Given the description of an element on the screen output the (x, y) to click on. 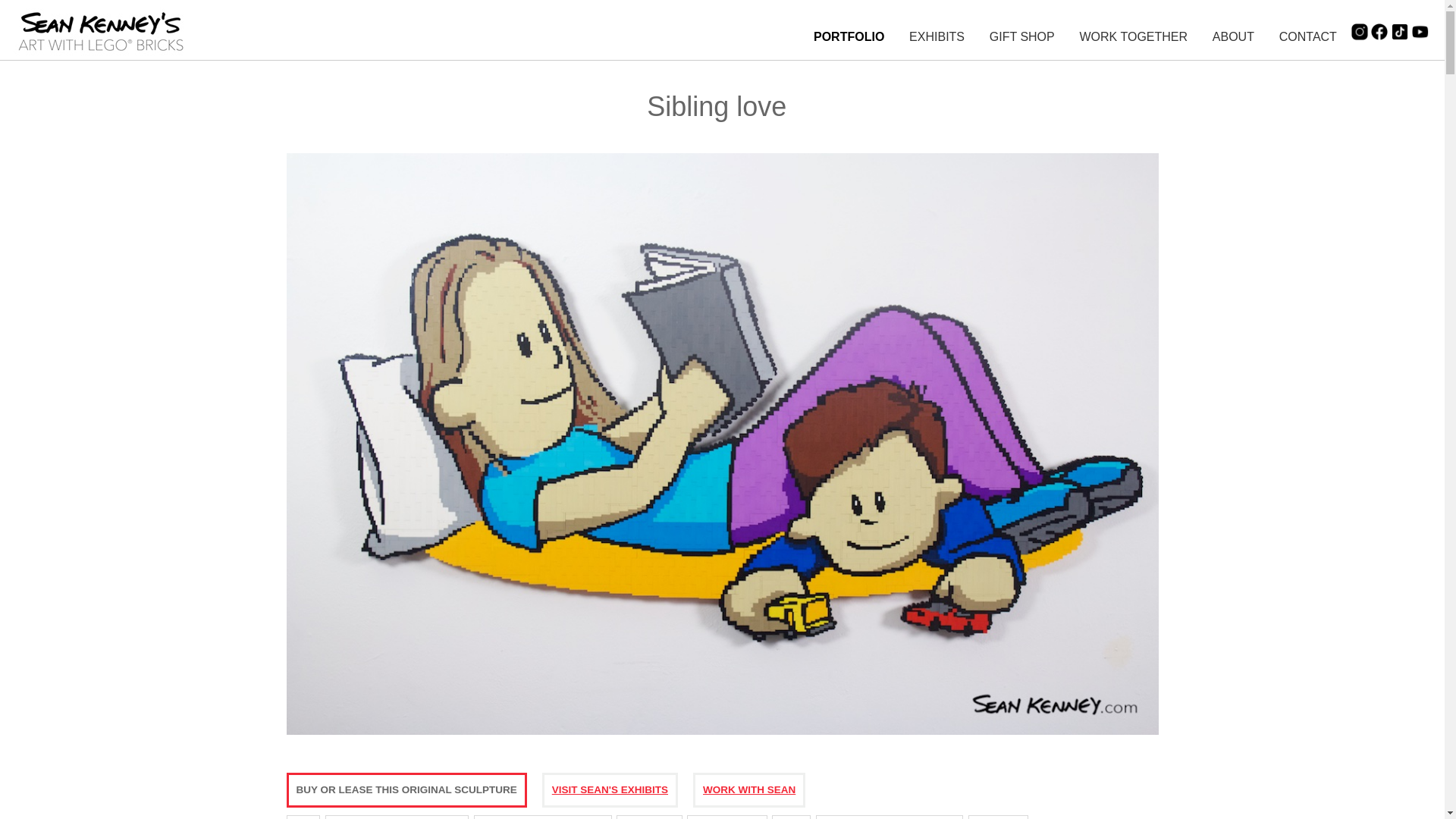
AVAILABLE NOW FOR SALE (542, 816)
CONTACT (1307, 36)
EXHIBITS (935, 36)
GIFT SHOP (1022, 36)
Sibling love (722, 737)
WORK TOGETHER (1134, 36)
Click to return home (102, 57)
ABOUT (1232, 36)
CARTOONS (648, 816)
VISIT SEAN'S EXHIBITS (609, 789)
2022 (303, 816)
PORTFOLIO (848, 36)
AVAILABLE NOW FOR LEASE (396, 816)
WORK WITH SEAN (748, 789)
